Given the description of an element on the screen output the (x, y) to click on. 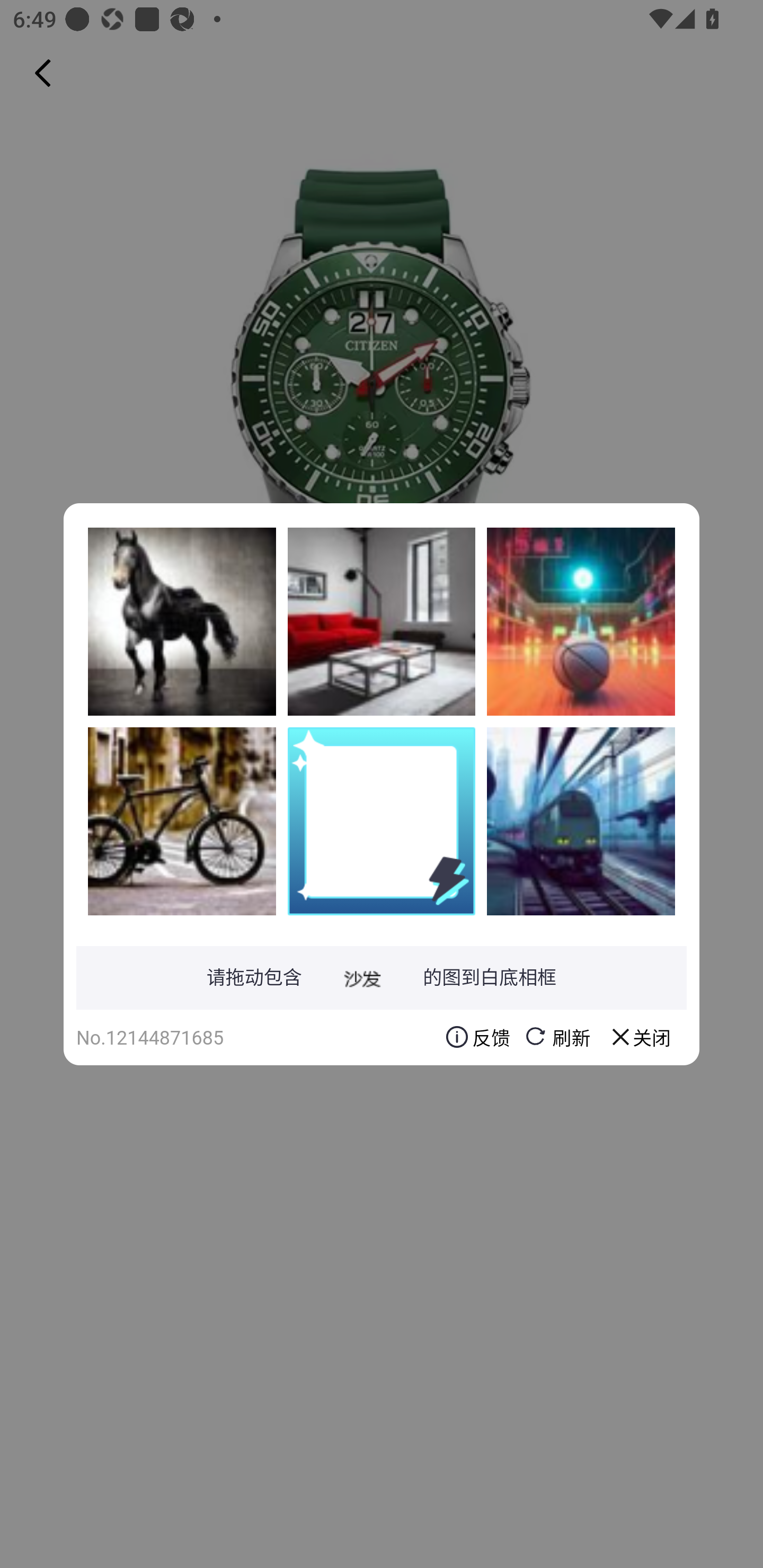
hFHD7iM9oE927H7h41sG+yxJqs0TSomio (181, 621)
MnoxONo (580, 621)
WL0mXXhvC5uIIVuT5sX91Oreat3G3tYprDe (181, 820)
YUNZJMLaDLzqcDJ60+A6 (580, 820)
